Given the description of an element on the screen output the (x, y) to click on. 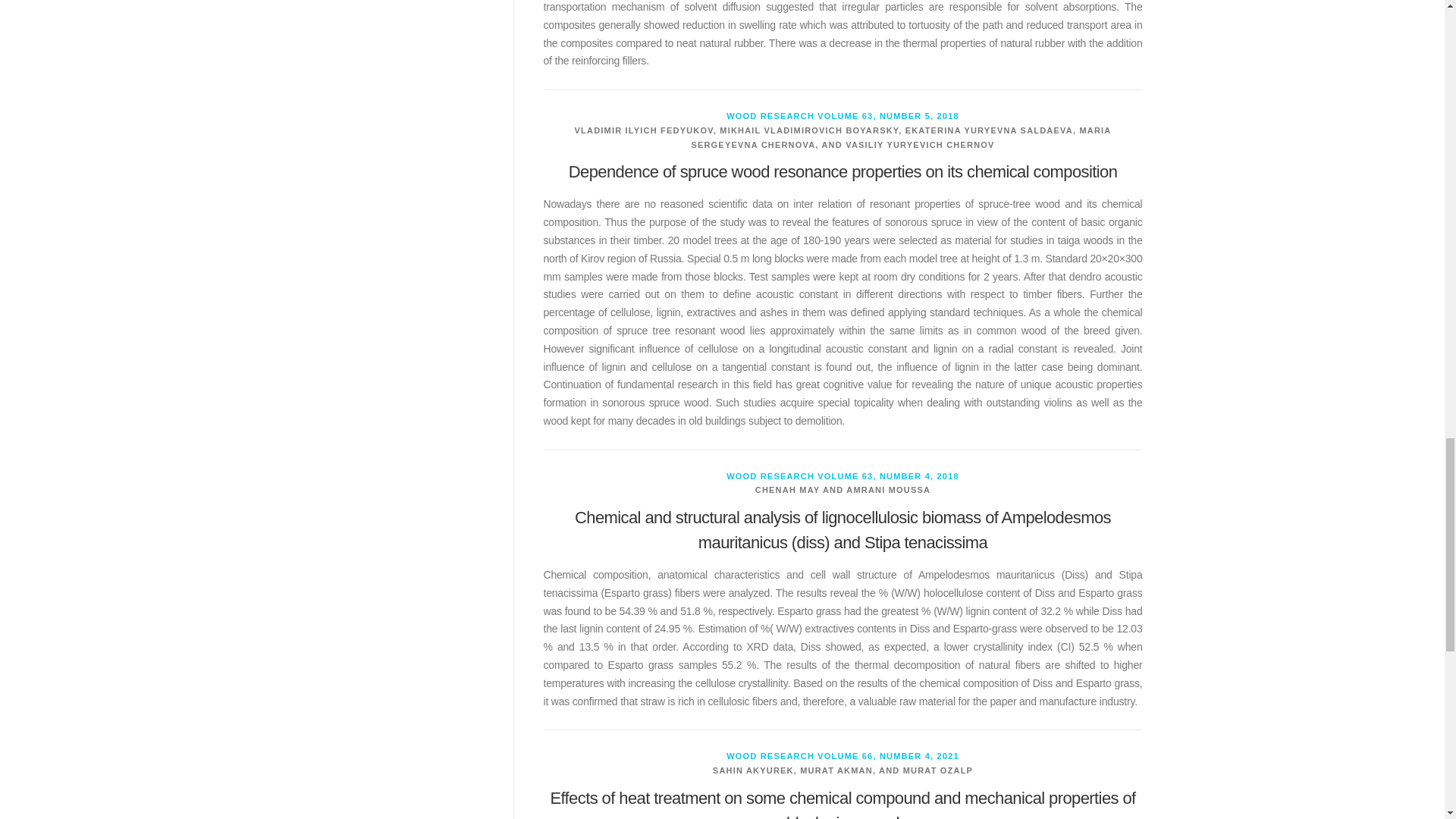
WOOD RESEARCH VOLUME 63, NUMBER 4, 2018 (842, 475)
WOOD RESEARCH VOLUME 63, NUMBER 5, 2018 (842, 115)
WOOD RESEARCH VOLUME 66, NUMBER 4, 2021 (842, 755)
